Given the description of an element on the screen output the (x, y) to click on. 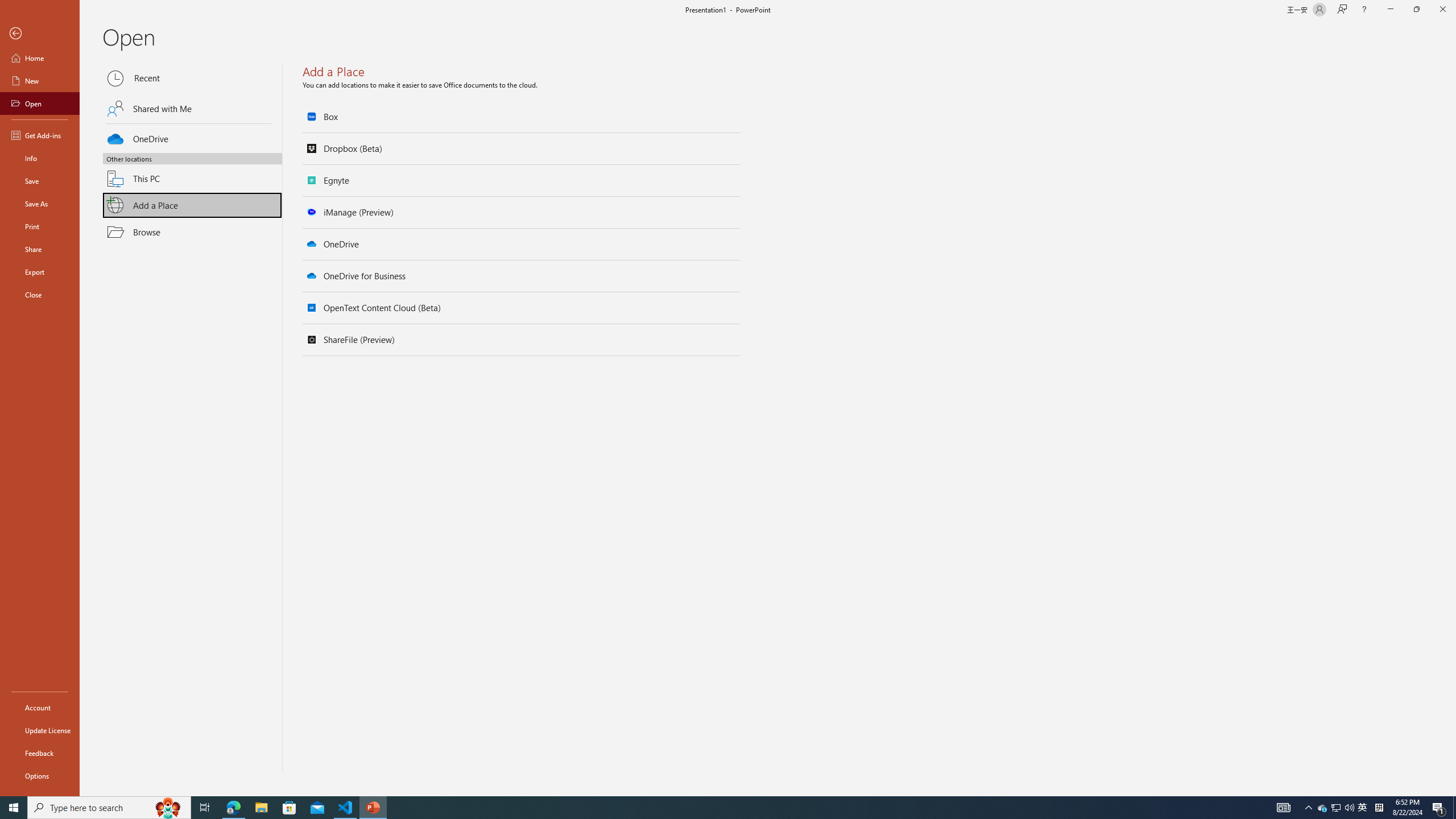
Shared with Me (192, 108)
OneDrive (192, 136)
Info (40, 157)
OpenText Content Cloud (Beta) (521, 308)
Get Add-ins (40, 134)
iManage (Preview) (521, 212)
New (40, 80)
Update License (40, 730)
